Given the description of an element on the screen output the (x, y) to click on. 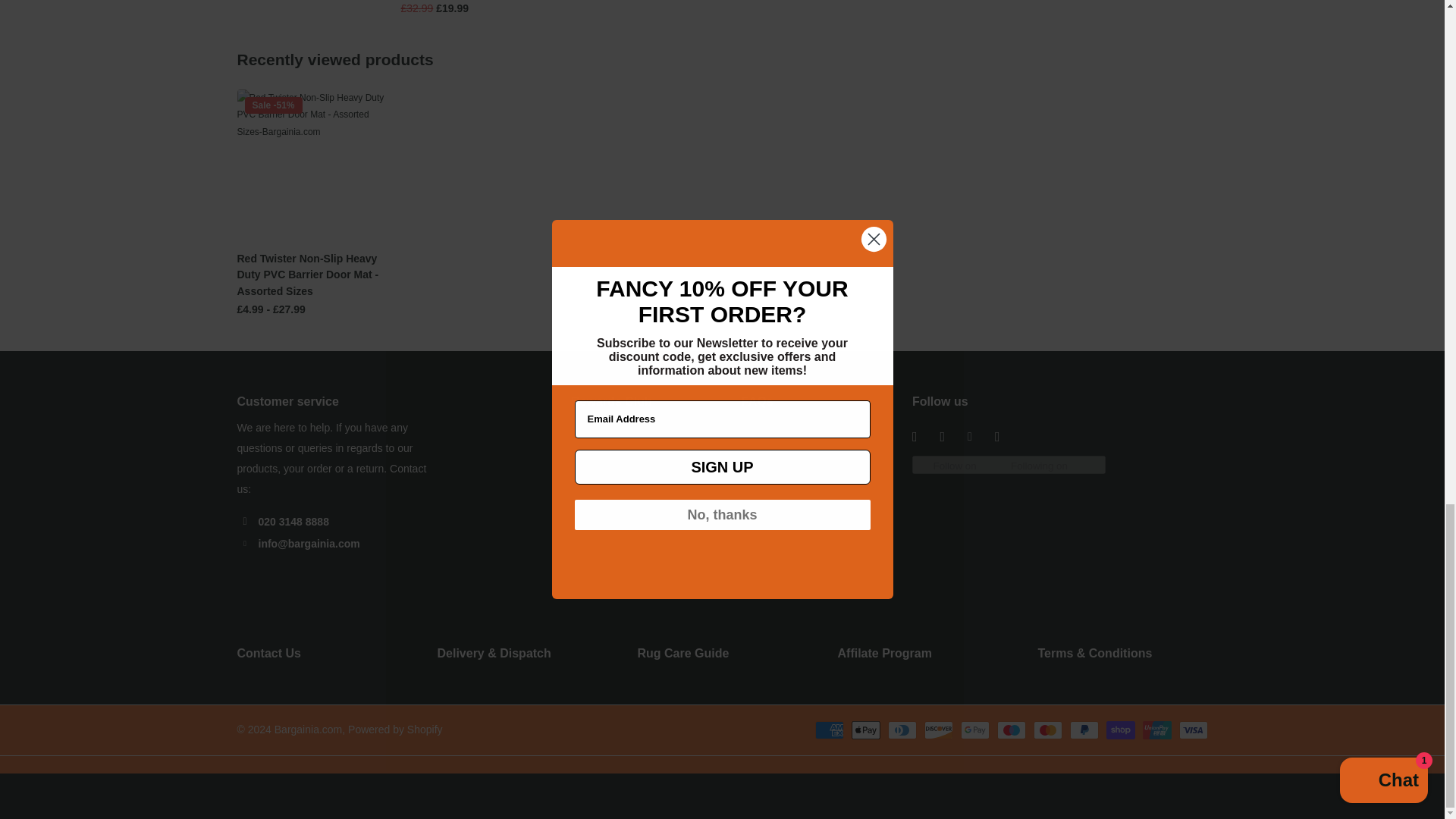
Mastercard (1046, 730)
American Express (828, 730)
Visa (1192, 730)
Union Pay (1155, 730)
Google Pay (973, 730)
Shop Pay (1119, 730)
Apple Pay (864, 730)
Discover (937, 730)
Diners Club (900, 730)
Maestro (1010, 730)
PayPal (1082, 730)
